Given the description of an element on the screen output the (x, y) to click on. 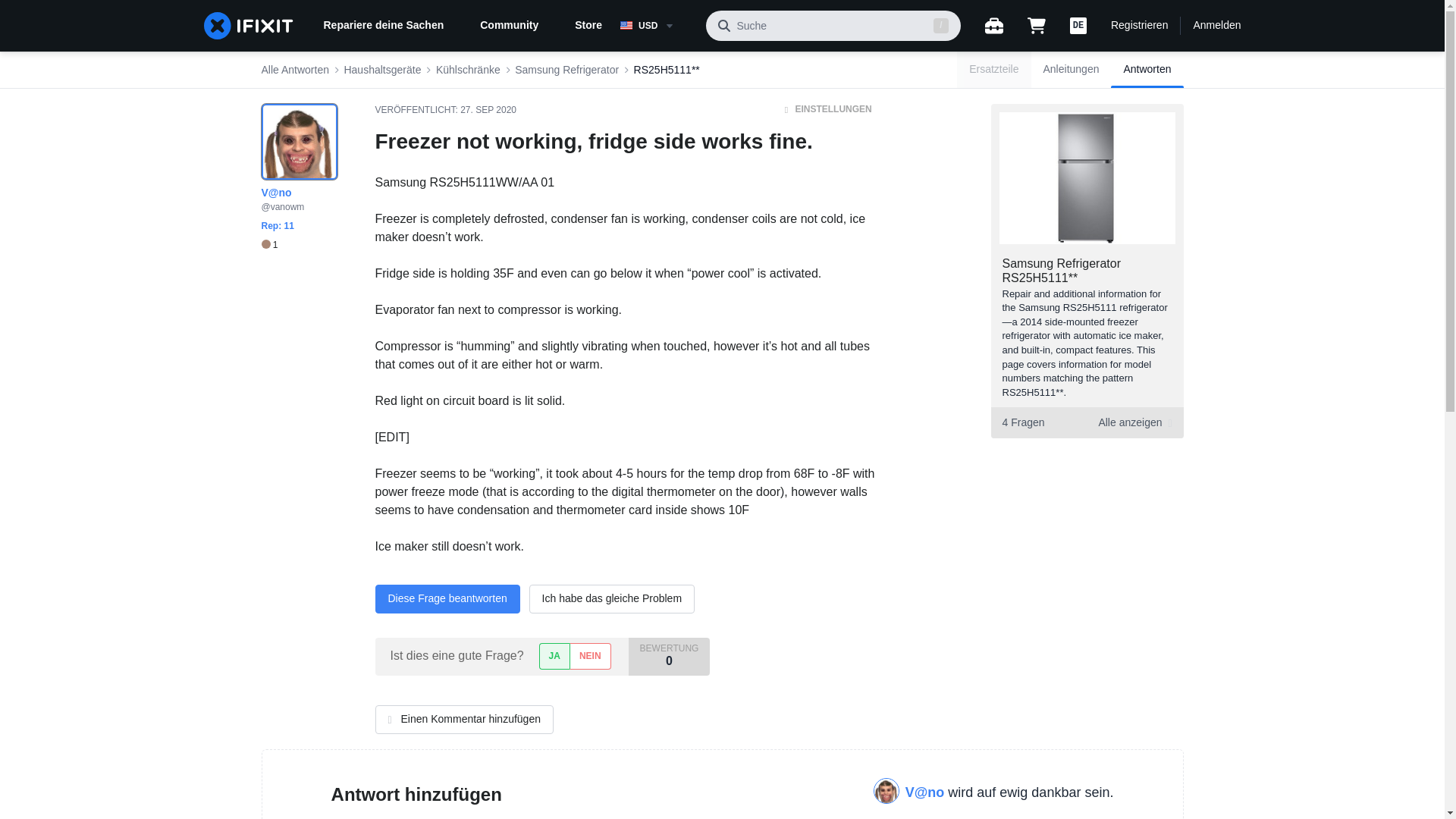
1 Bronze Auszeichnungen (269, 245)
Diese Frage beantworten (446, 598)
Registrieren (1138, 25)
USD (657, 25)
Samsung Refrigerator (566, 69)
Antworten (1146, 69)
Sun, 27 Sep 2020 13:47:17 -0700 (488, 109)
Alle Antworten (294, 69)
Anmelden (1216, 25)
Ich habe das gleiche Problem (611, 598)
